Given the description of an element on the screen output the (x, y) to click on. 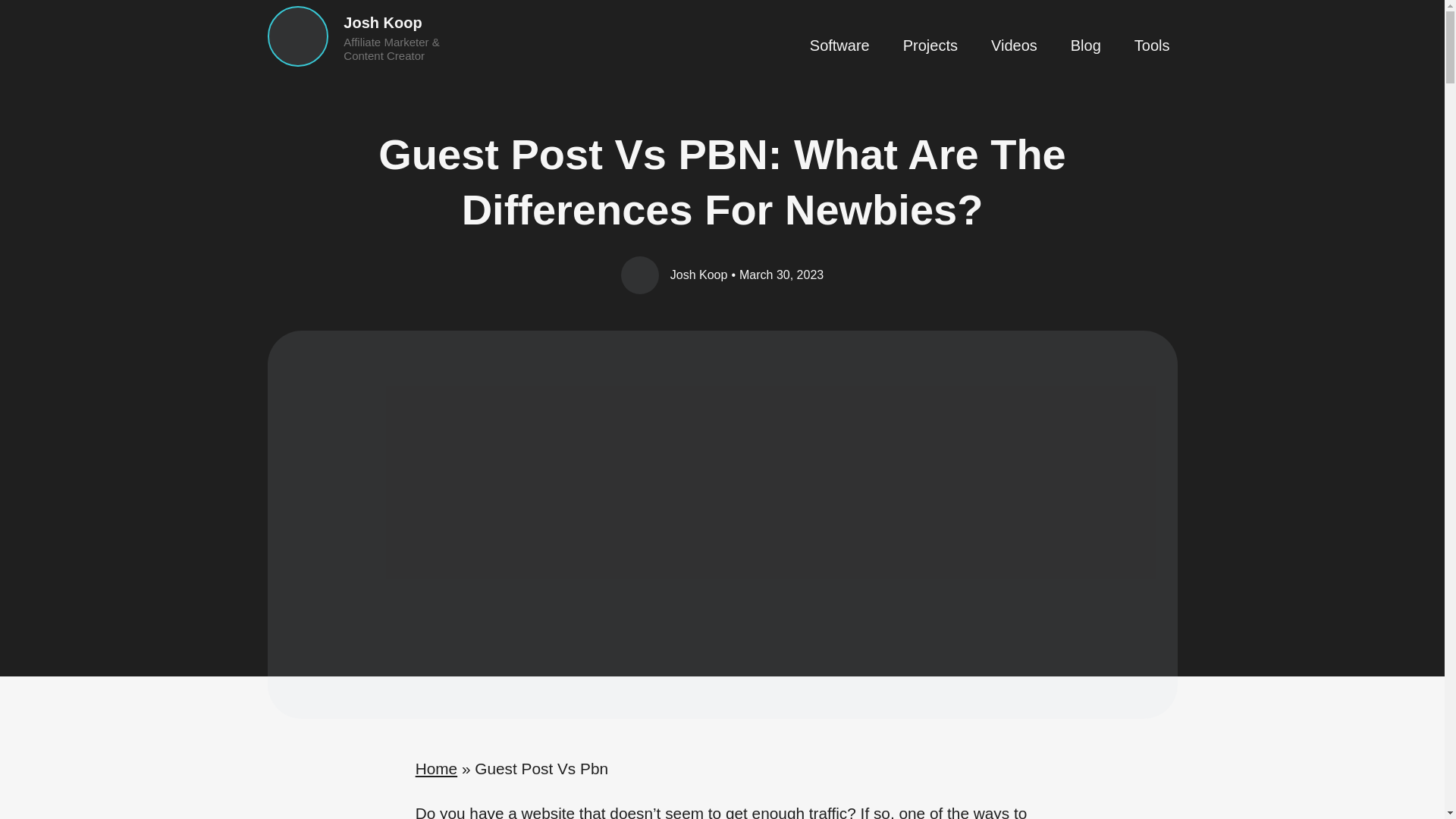
Videos (1013, 45)
josh (296, 35)
Software (839, 45)
Home (435, 768)
Projects (930, 45)
Tools (1152, 45)
Blog (1085, 45)
